Given the description of an element on the screen output the (x, y) to click on. 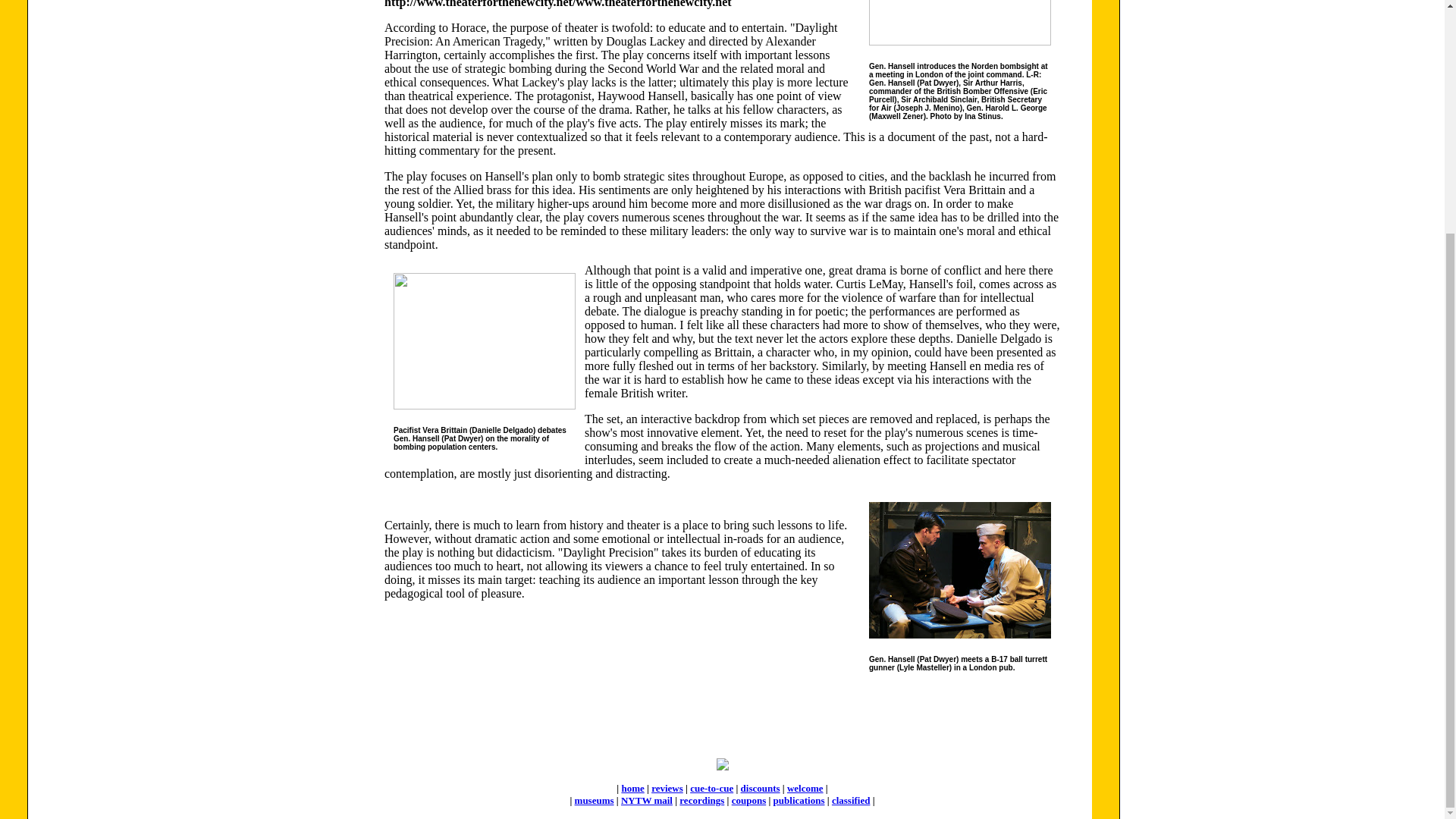
cue-to-cue (711, 787)
coupons (749, 799)
classified (850, 799)
NYTW mail (646, 799)
reviews (666, 787)
discounts (760, 787)
publications (799, 799)
recordings (701, 799)
home (632, 787)
museums (594, 799)
